Given the description of an element on the screen output the (x, y) to click on. 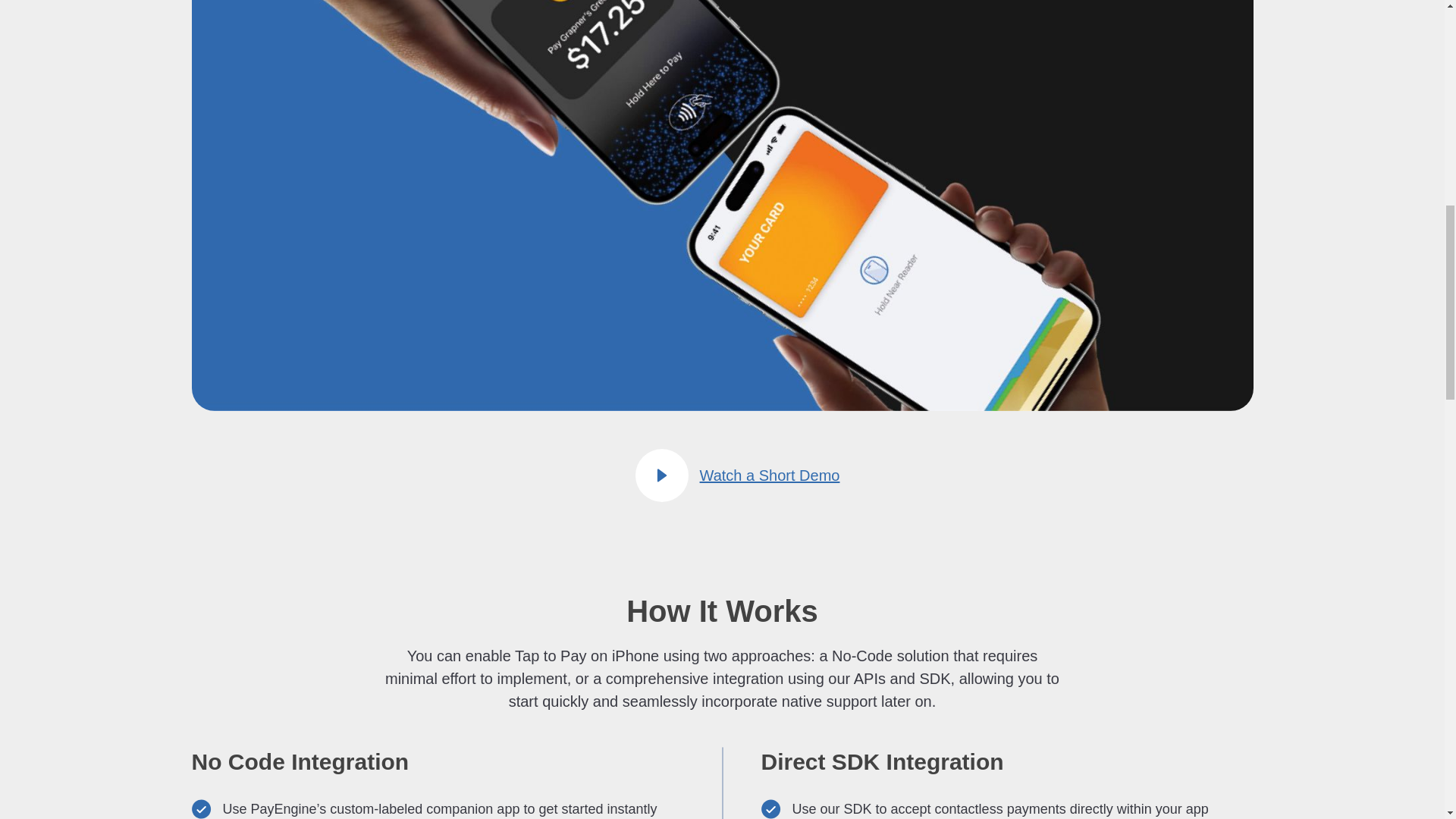
Watch a Short Demo (722, 475)
